Given the description of an element on the screen output the (x, y) to click on. 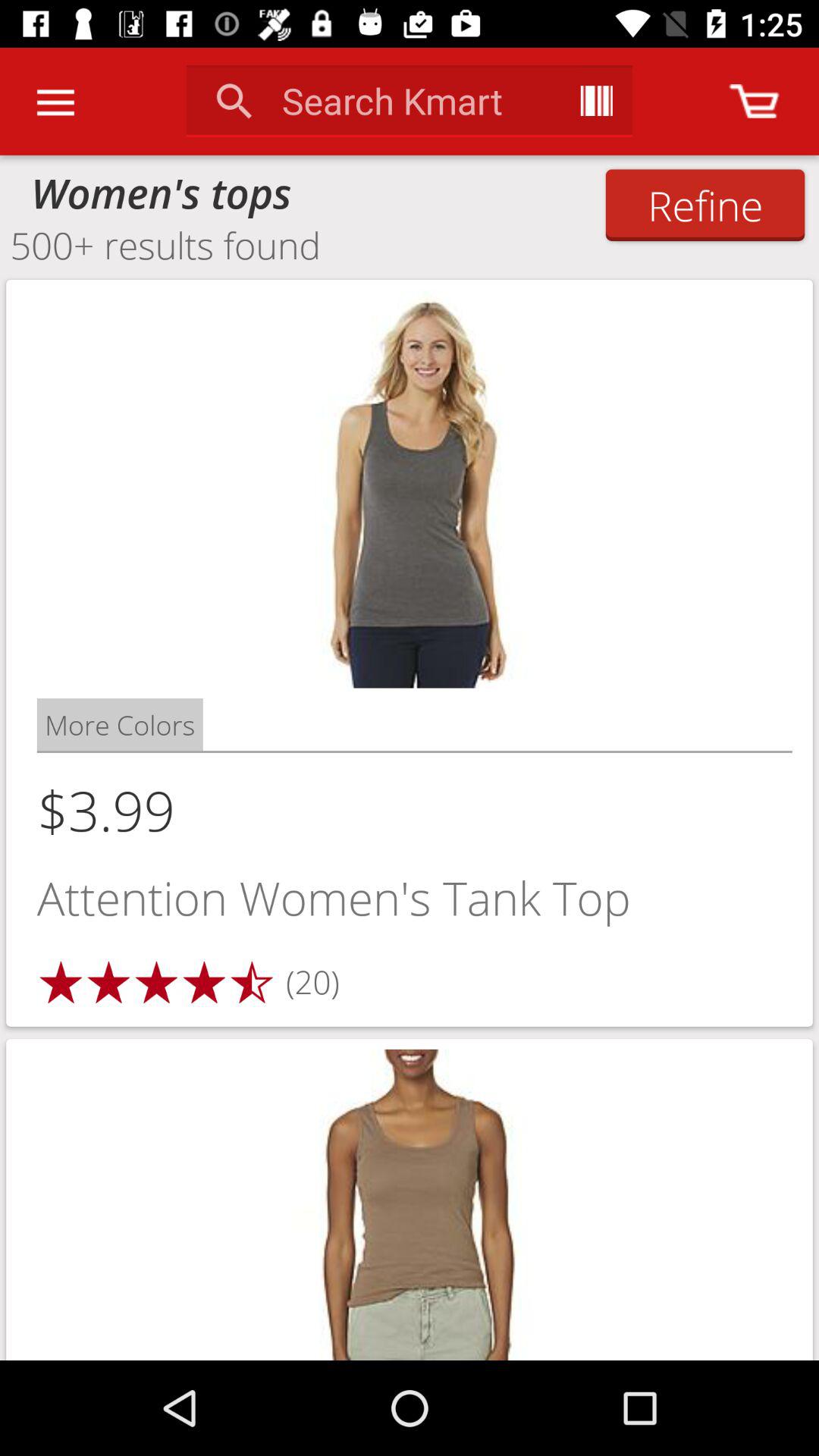
choose the item above refine item (754, 101)
